Given the description of an element on the screen output the (x, y) to click on. 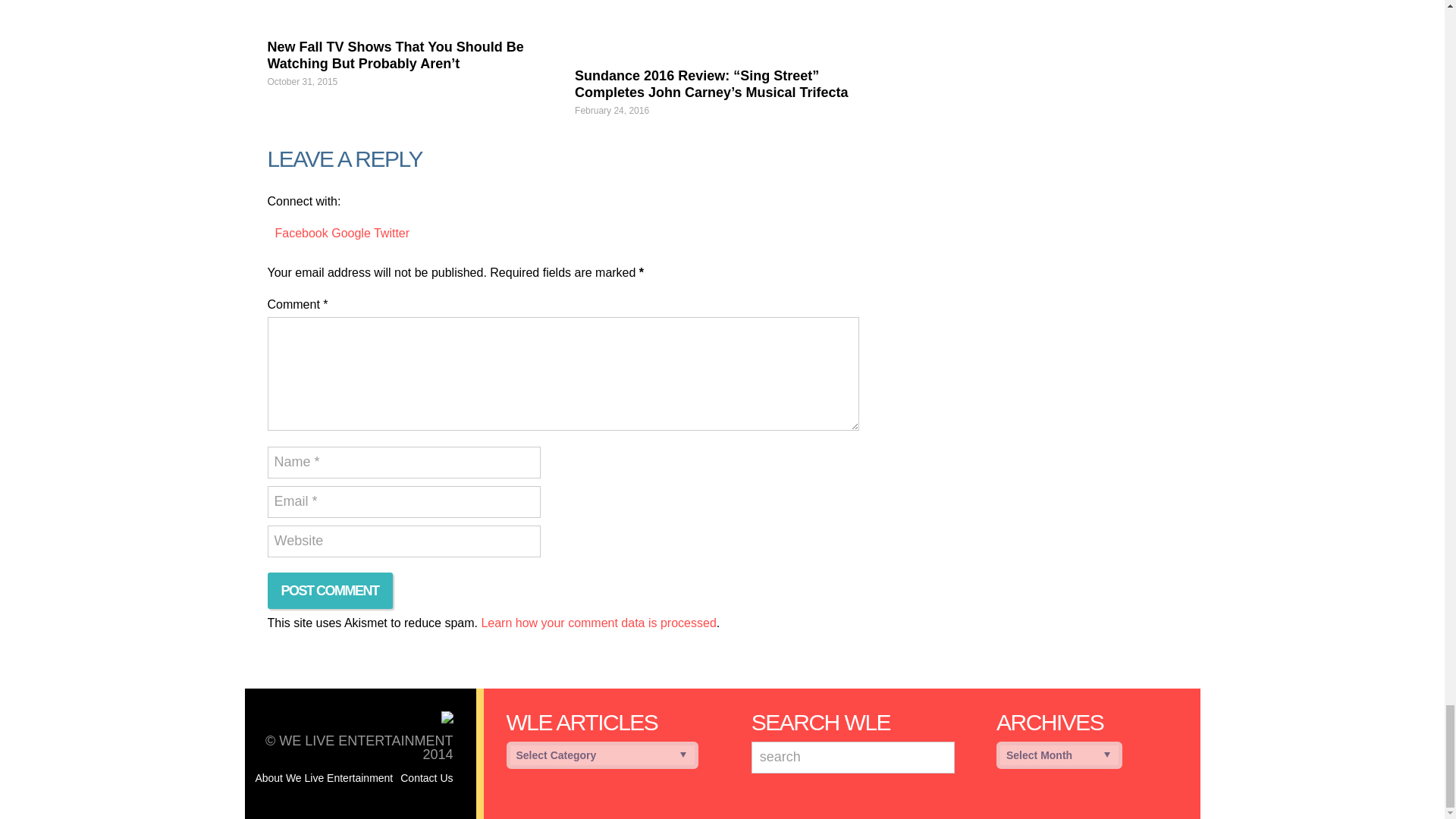
Post Comment (328, 590)
